Given the description of an element on the screen output the (x, y) to click on. 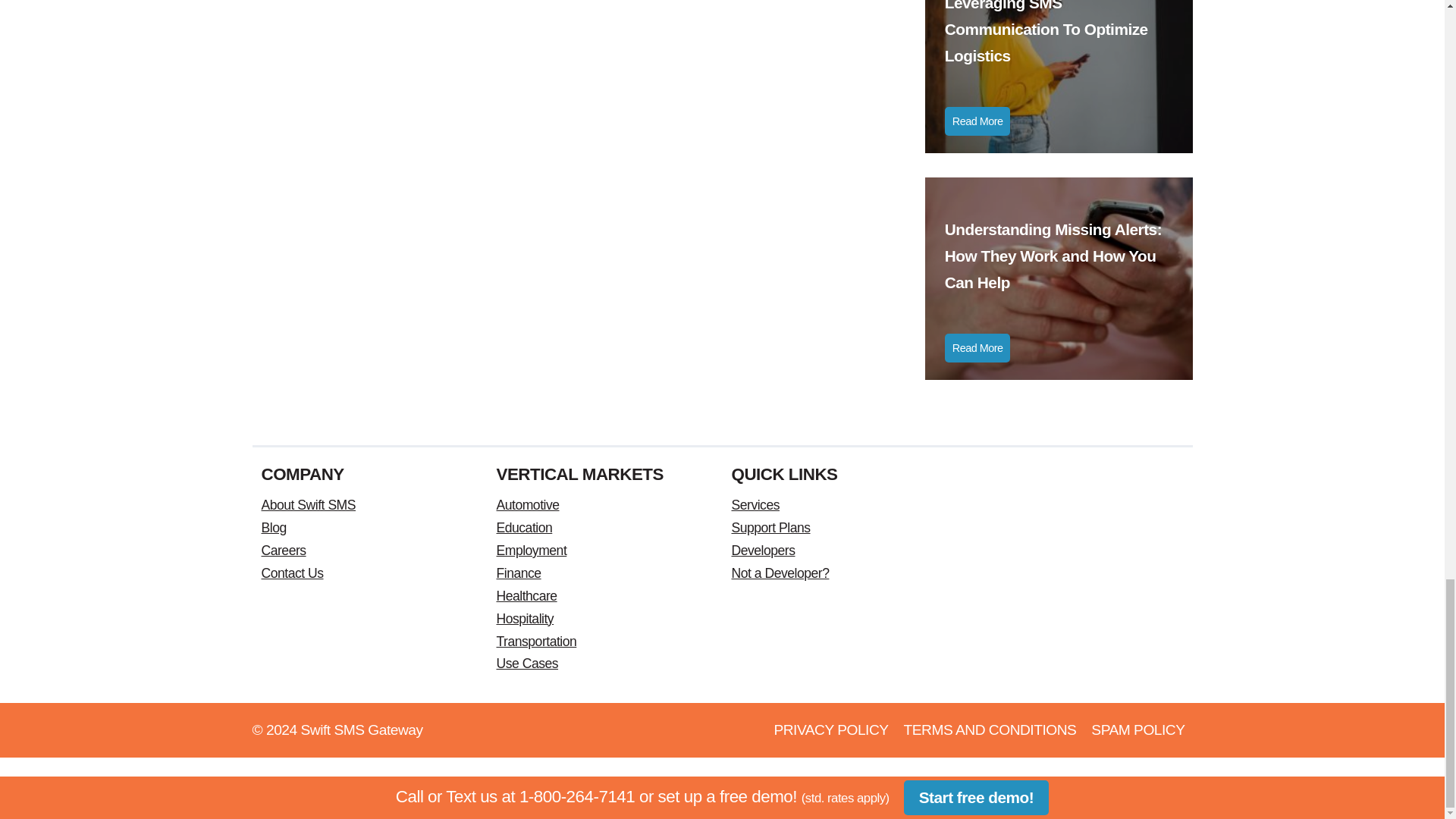
Leveraging SMS Communication To Optimize Logistics (1058, 47)
